Given the description of an element on the screen output the (x, y) to click on. 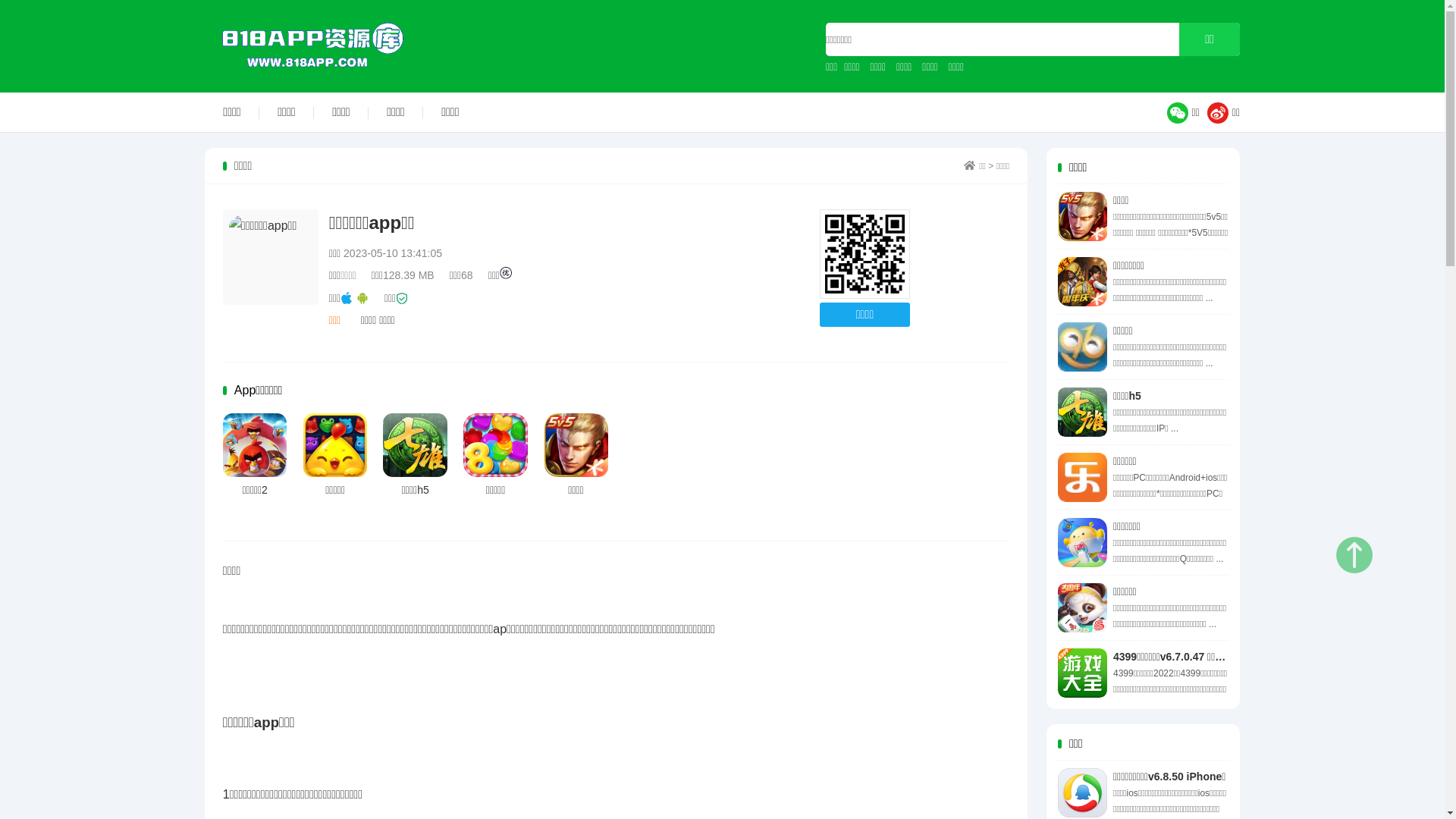
http://www.818app.com Element type: hover (864, 254)
